Given the description of an element on the screen output the (x, y) to click on. 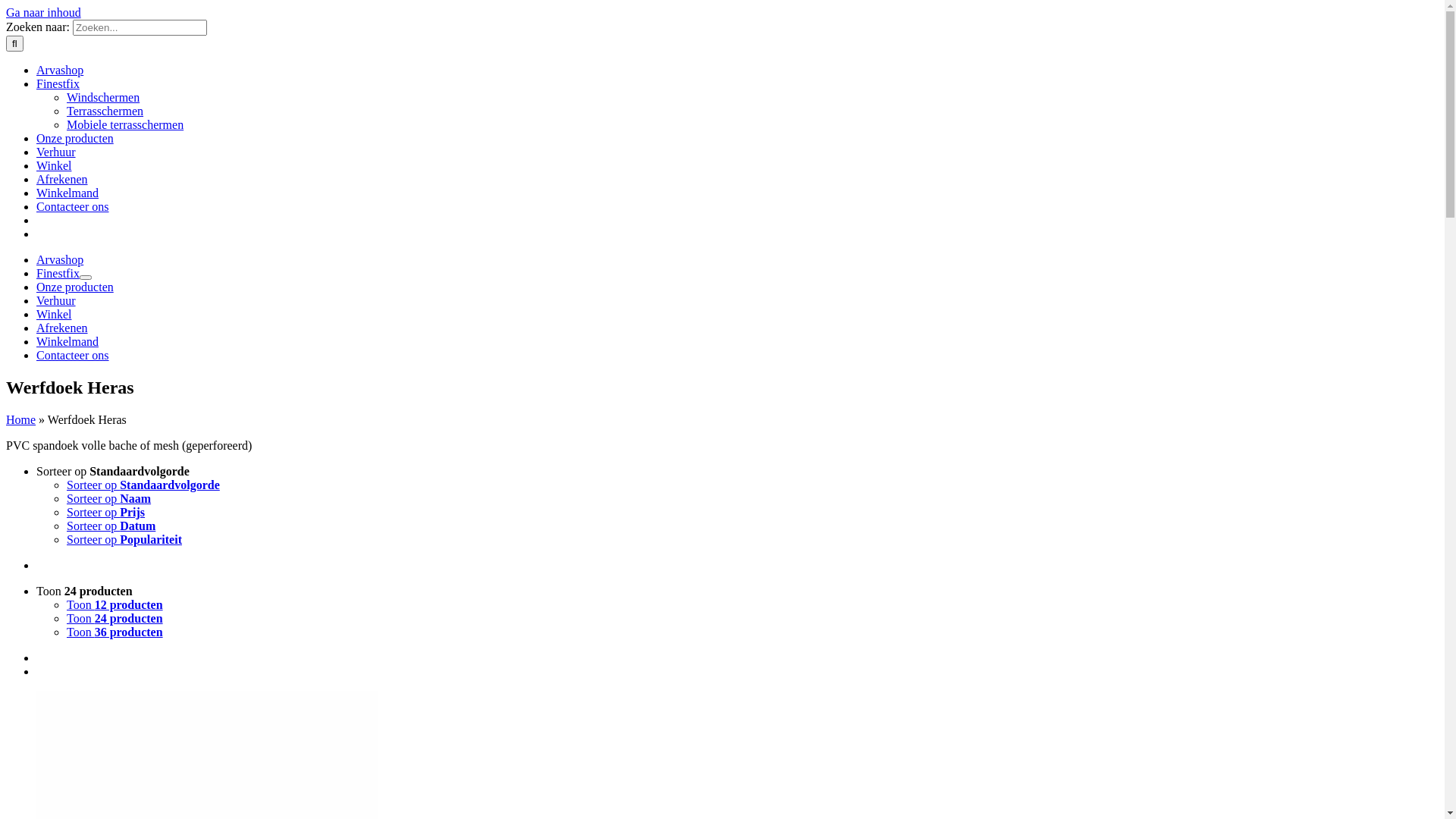
Sorteer op Datum Element type: text (110, 525)
Sorteer op Standaardvolgorde Element type: text (142, 484)
Verhuur Element type: text (55, 151)
Winkelmand Element type: text (67, 192)
Arvashop Element type: text (59, 259)
Afrekenen Element type: text (61, 178)
Finestfix Element type: text (57, 83)
Contacteer ons Element type: text (72, 354)
Toon 36 producten Element type: text (114, 631)
Afrekenen Element type: text (61, 327)
Mobiele terrasschermen Element type: text (124, 124)
Toon 24 producten Element type: text (114, 617)
Contacteer ons Element type: text (72, 206)
Toon 24 producten Element type: text (84, 590)
Sorteer op Standaardvolgorde Element type: text (112, 470)
Arvashop Element type: text (59, 69)
Sorteer op Naam Element type: text (108, 498)
Windschermen Element type: text (102, 97)
Onze producten Element type: text (74, 286)
Winkelmand Element type: text (67, 341)
Toon 12 producten Element type: text (114, 604)
Terrasschermen Element type: text (104, 110)
Sorteer op Prijs Element type: text (105, 511)
Onze producten Element type: text (74, 137)
Sorteer op Populariteit Element type: text (124, 539)
Winkel Element type: text (53, 165)
Finestfix Element type: text (57, 272)
Verhuur Element type: text (55, 300)
Winkel Element type: text (53, 313)
Home Element type: text (20, 419)
Ga naar inhoud Element type: text (43, 12)
